Given the description of an element on the screen output the (x, y) to click on. 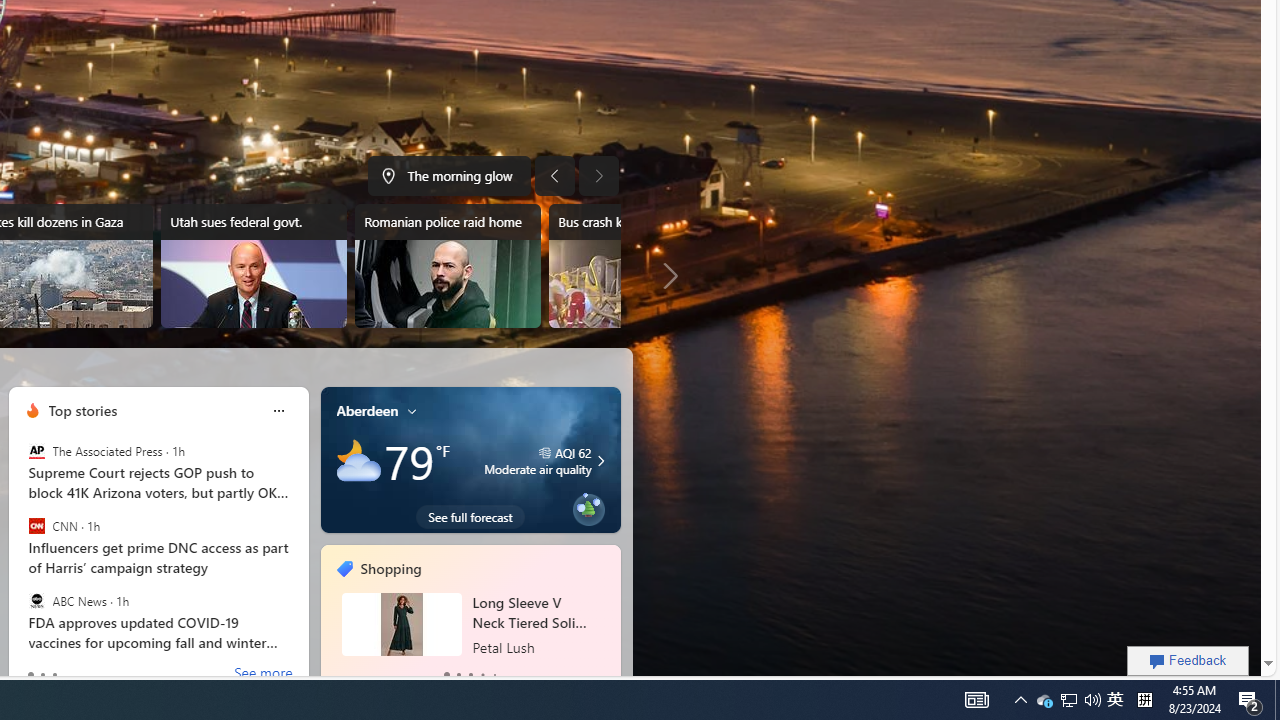
Mostly cloudy (358, 461)
